Given the description of an element on the screen output the (x, y) to click on. 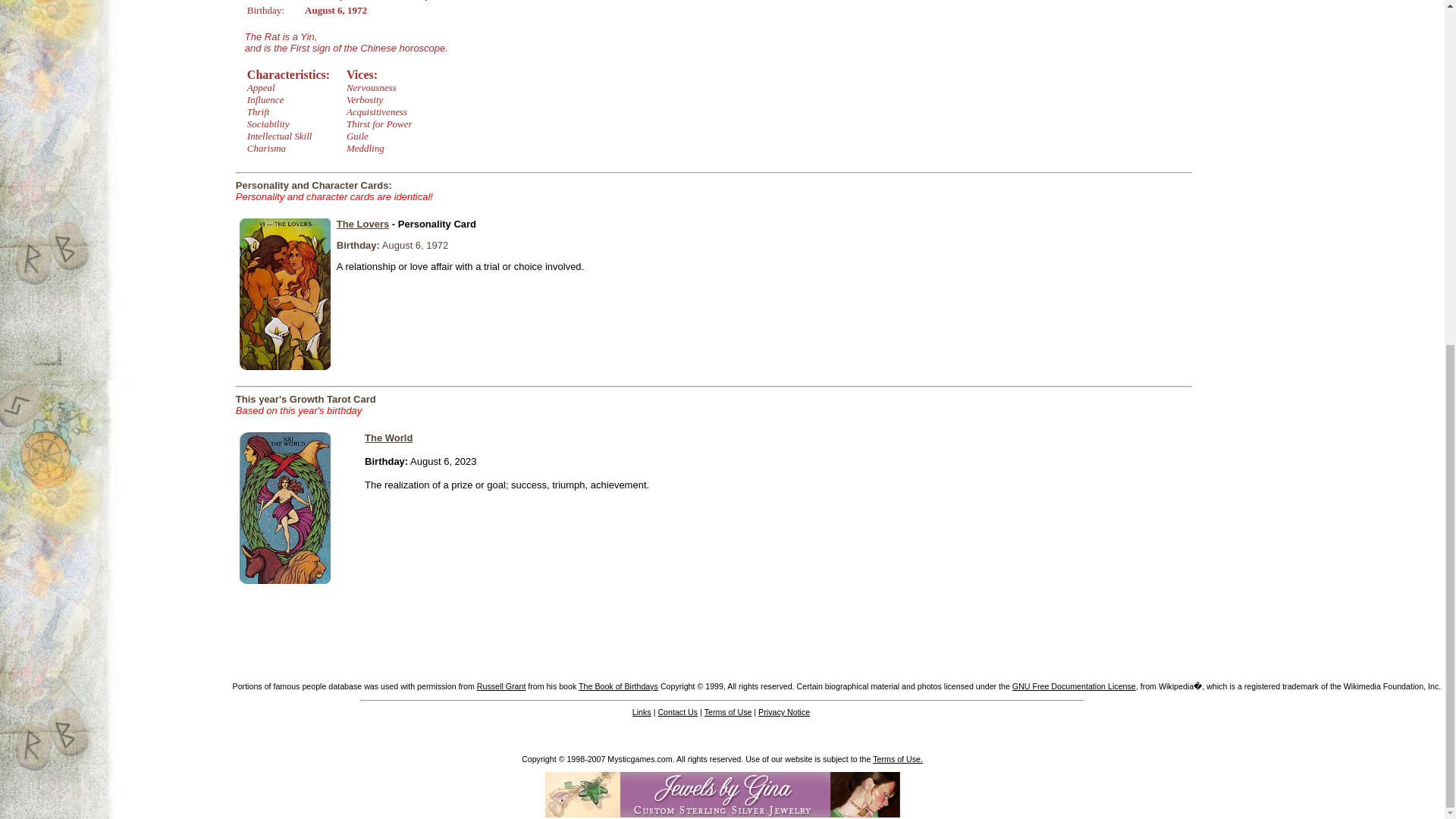
The World (388, 437)
Custom sterling silver jewelry (721, 794)
Terms of Use (728, 711)
GNU Free Documentation License (1073, 686)
Privacy Notice (783, 711)
The Lovers (362, 224)
Russell Grant (501, 686)
Links (640, 711)
The Book of Birthdays (618, 686)
Contact Us (677, 711)
Terms of Use. (897, 758)
